Given the description of an element on the screen output the (x, y) to click on. 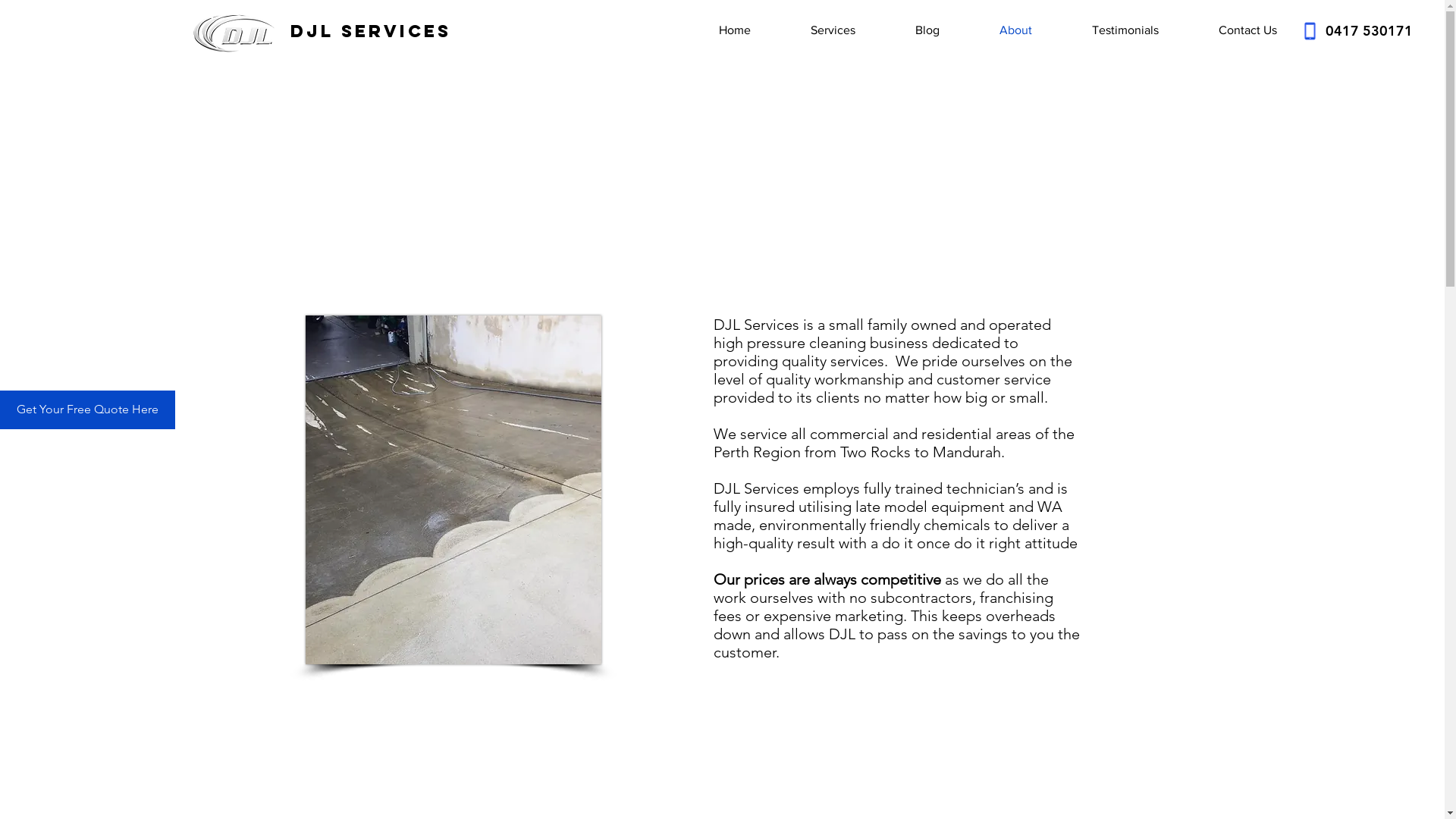
DJL SERVICES Element type: text (369, 30)
Testimonials Element type: text (1106, 29)
Contact Us Element type: text (1229, 29)
Services Element type: text (814, 29)
Get Your Free Quote Here Element type: text (87, 409)
Home Element type: text (716, 29)
About Element type: text (996, 29)
Blog Element type: text (908, 29)
